Given the description of an element on the screen output the (x, y) to click on. 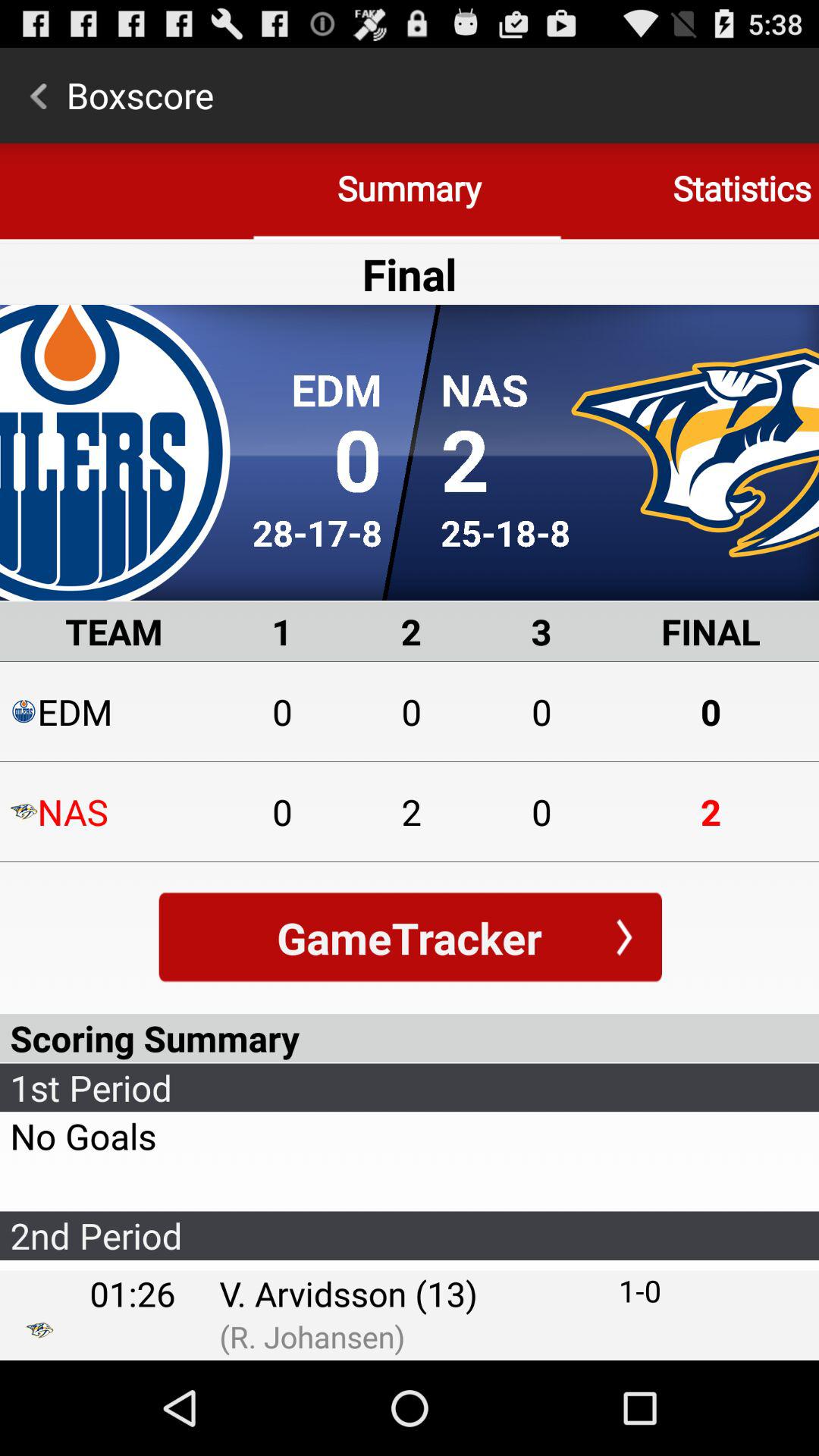
choose gametracker button (409, 937)
